Given the description of an element on the screen output the (x, y) to click on. 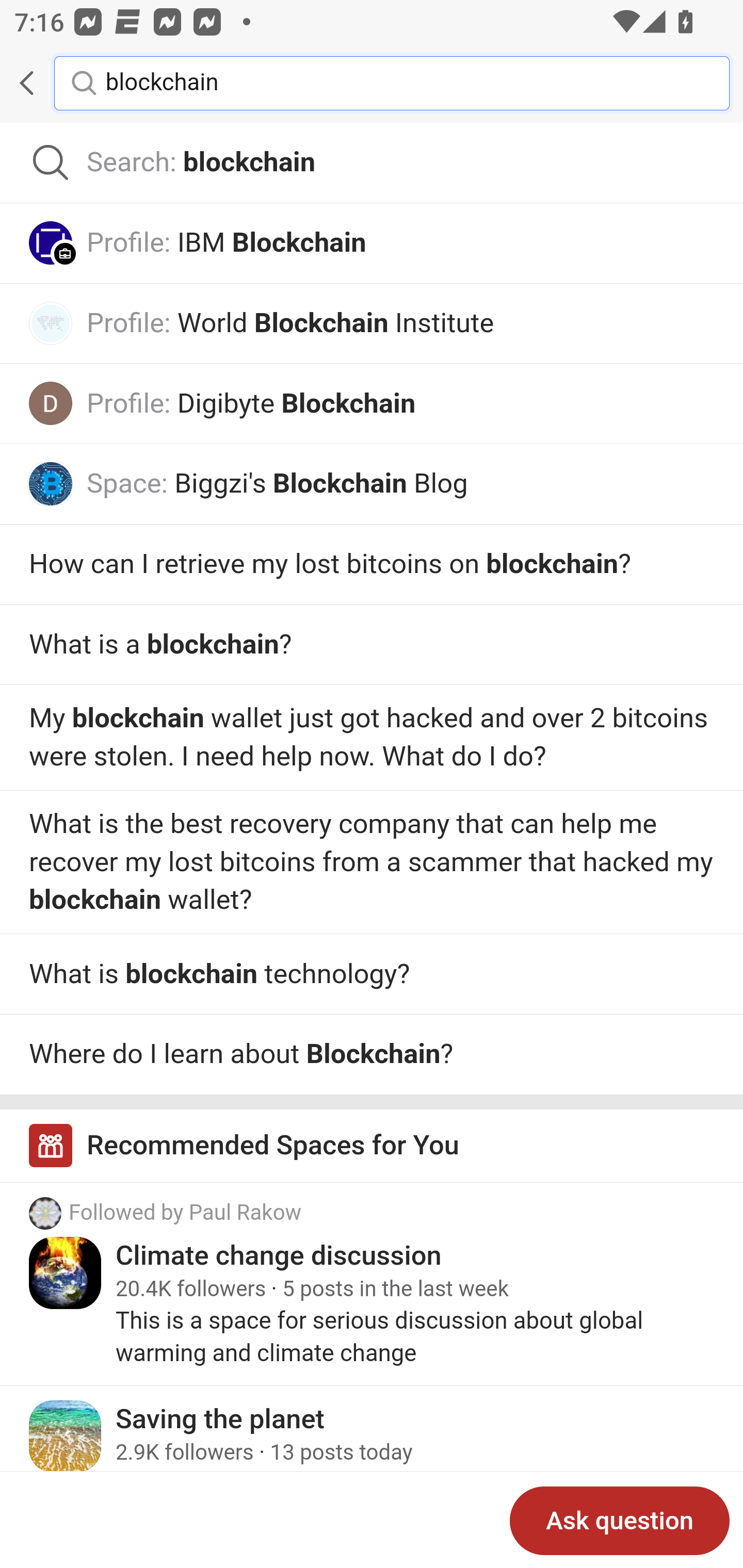
Me Home Search Add (371, 82)
blockchain (402, 82)
Search: blo (371, 162)
Profile photo for World Blockchain Institute (50, 322)
Profile photo for Digibyte Blockchain (50, 403)
Icon for Biggzi's Blockchain Blog (50, 483)
What are some great mind-blowing books? Why? (371, 564)
How can I tell if I’ve been blocked by Messenger? (371, 644)
Icon for Climate change discussion (65, 1272)
Icon for Saving the planet (65, 1435)
